Given the description of an element on the screen output the (x, y) to click on. 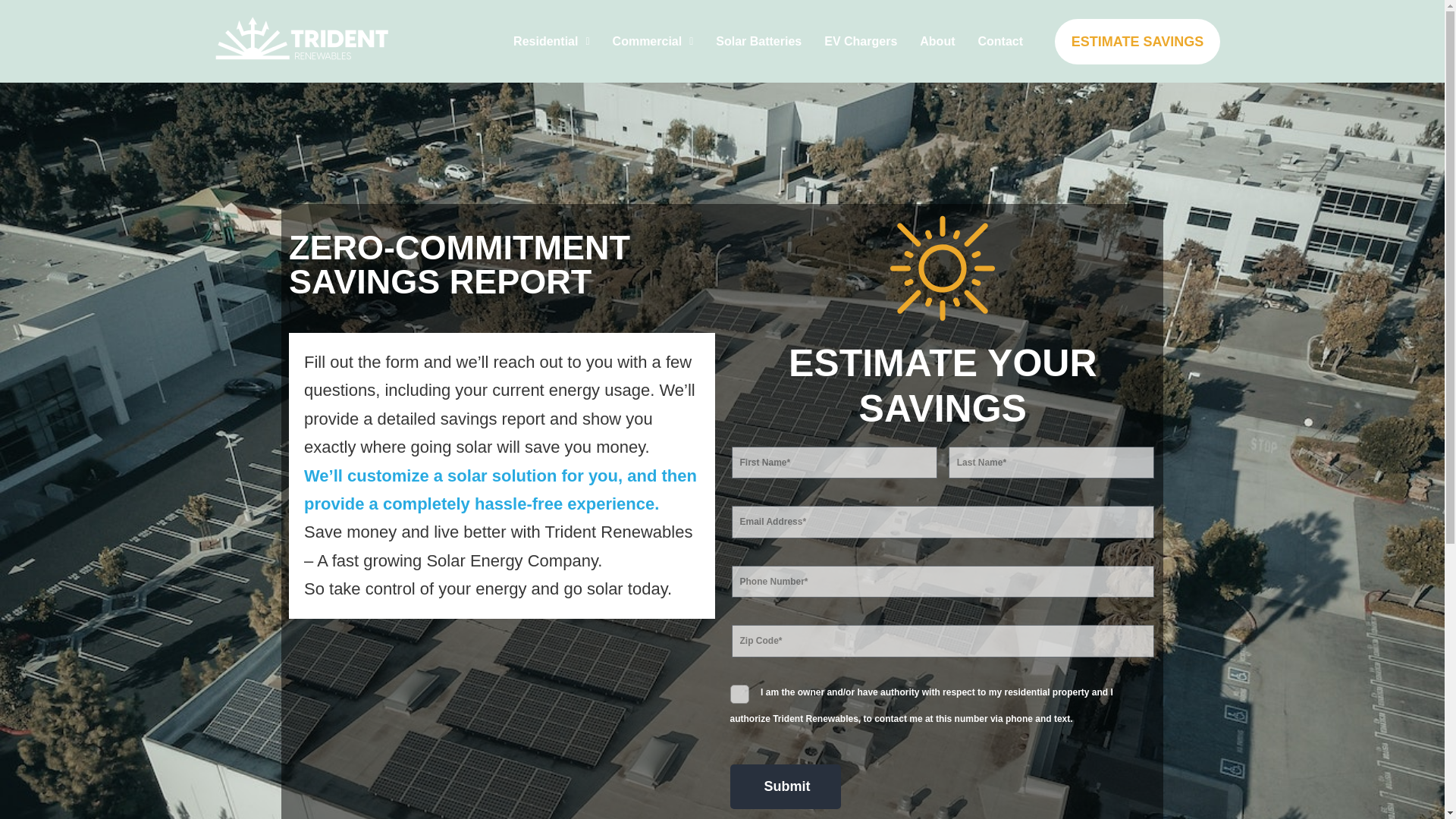
EV Chargers (860, 40)
Submit (784, 786)
Residential (550, 40)
Solar Batteries (758, 40)
Commercial (652, 40)
About (937, 40)
Contact (999, 40)
ESTIMATE SAVINGS (1137, 40)
